Given the description of an element on the screen output the (x, y) to click on. 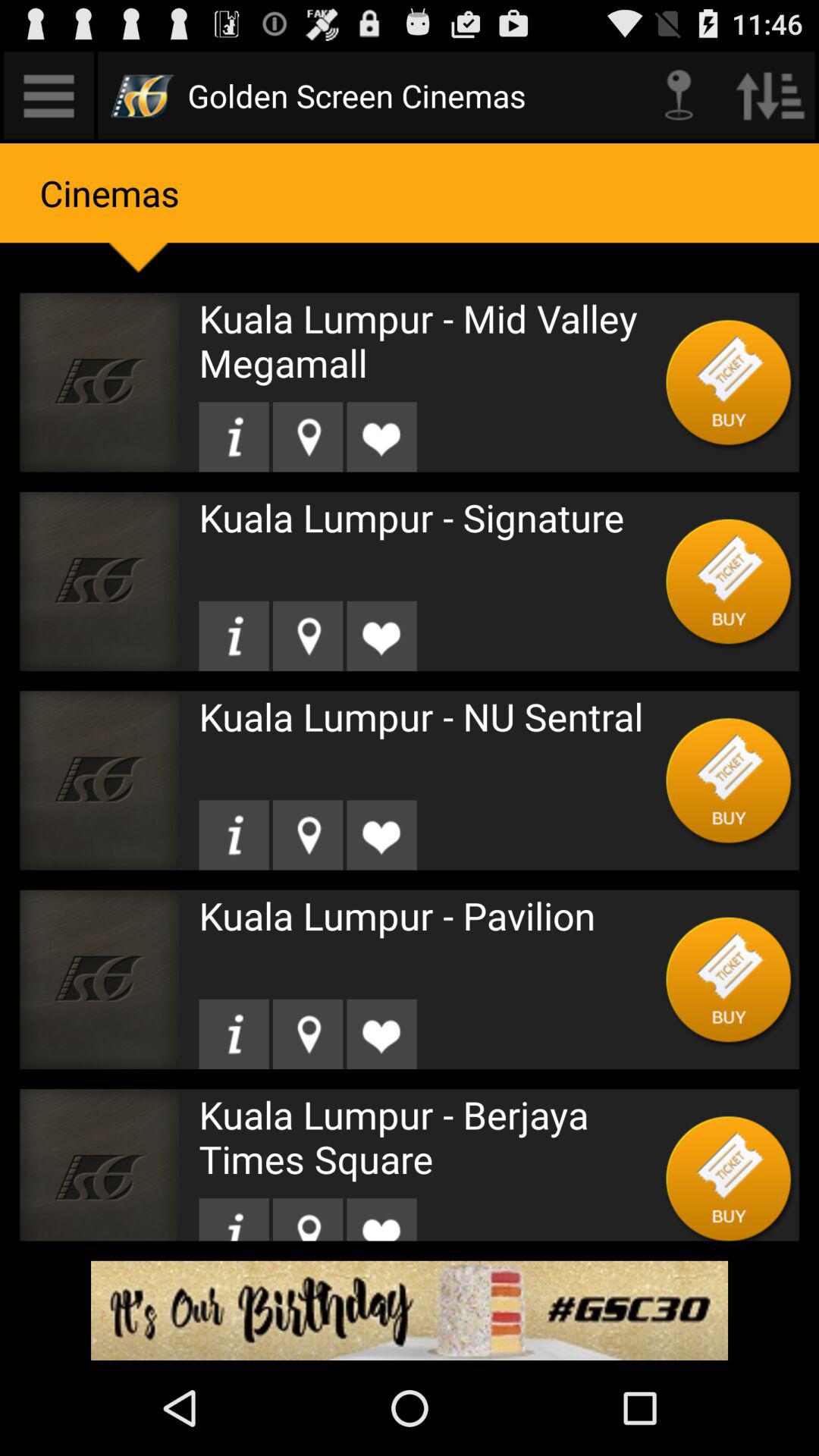
purchase ticket (729, 979)
